Given the description of an element on the screen output the (x, y) to click on. 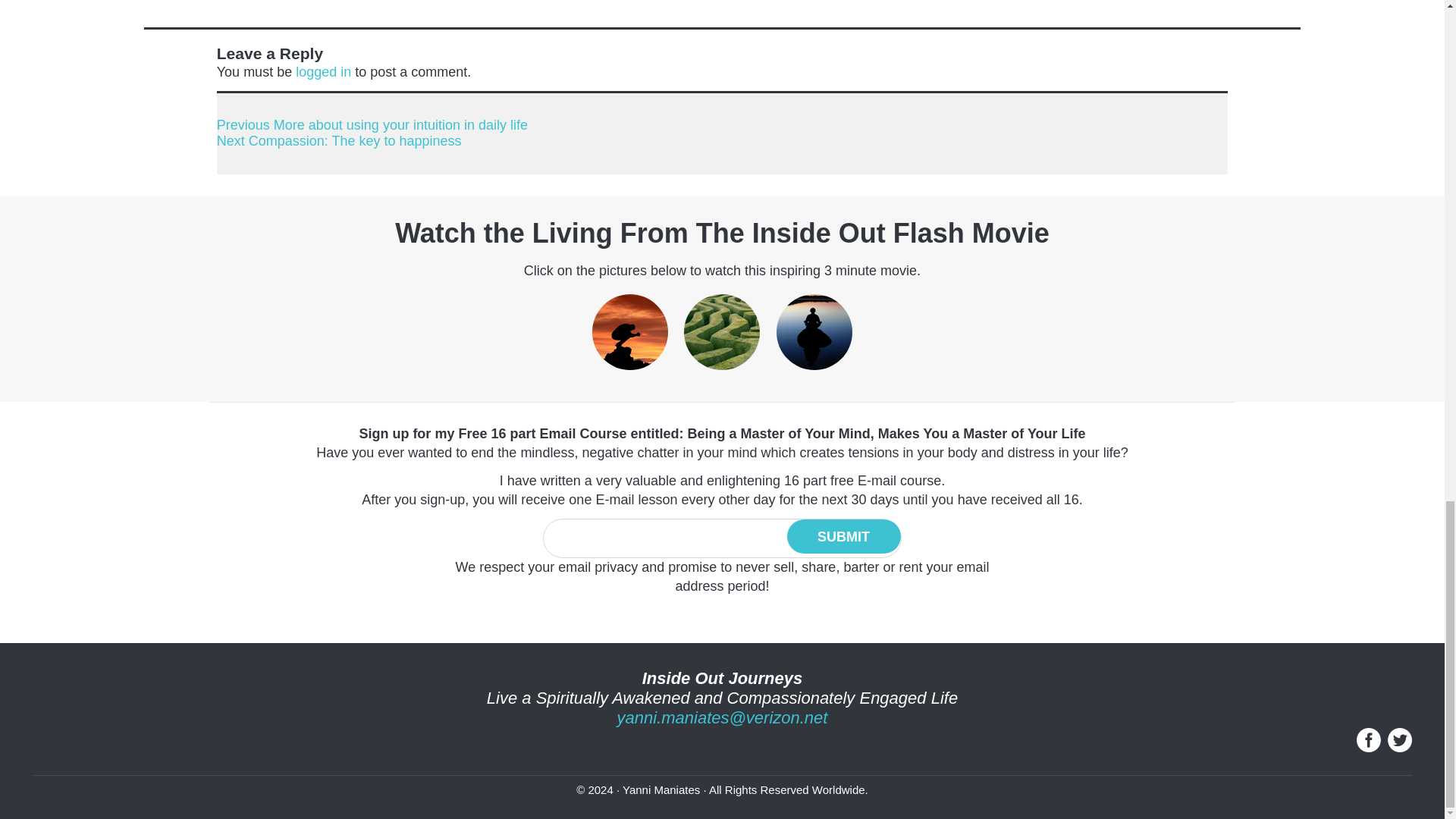
Submit (338, 140)
Submit (844, 536)
logged in (844, 536)
